Given the description of an element on the screen output the (x, y) to click on. 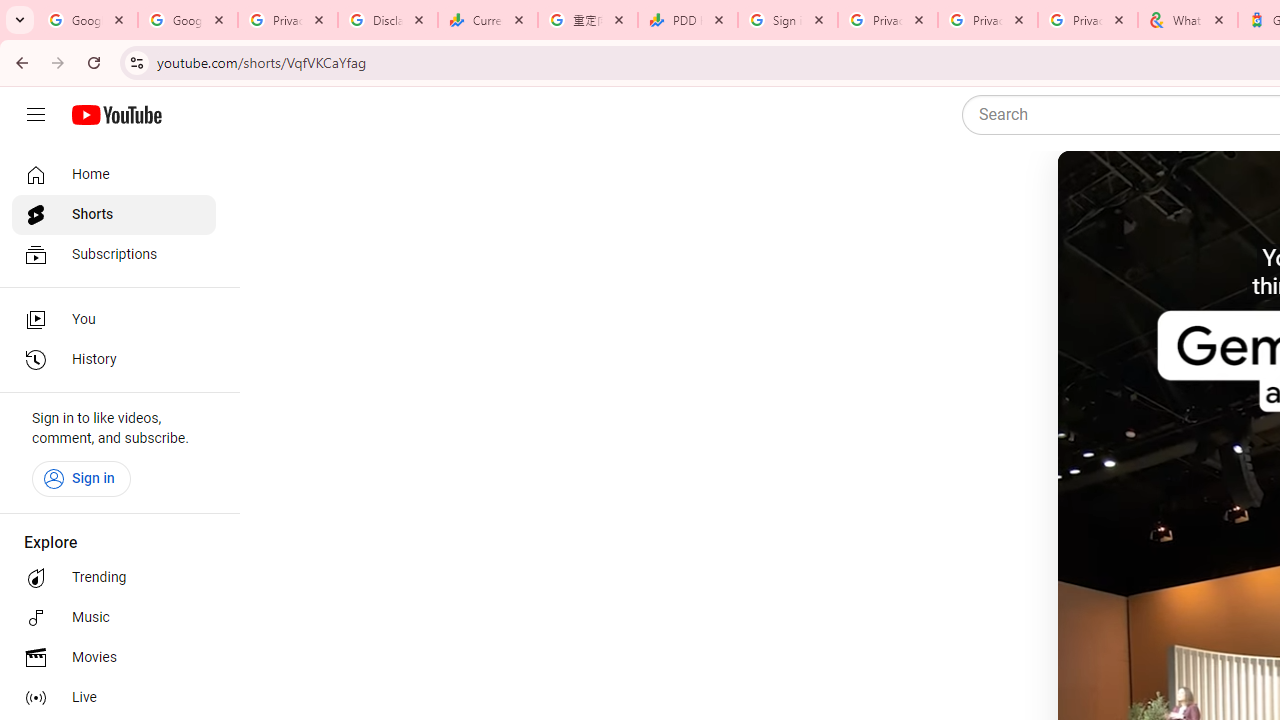
Privacy Checkup (988, 20)
Mute (1154, 191)
